Given the description of an element on the screen output the (x, y) to click on. 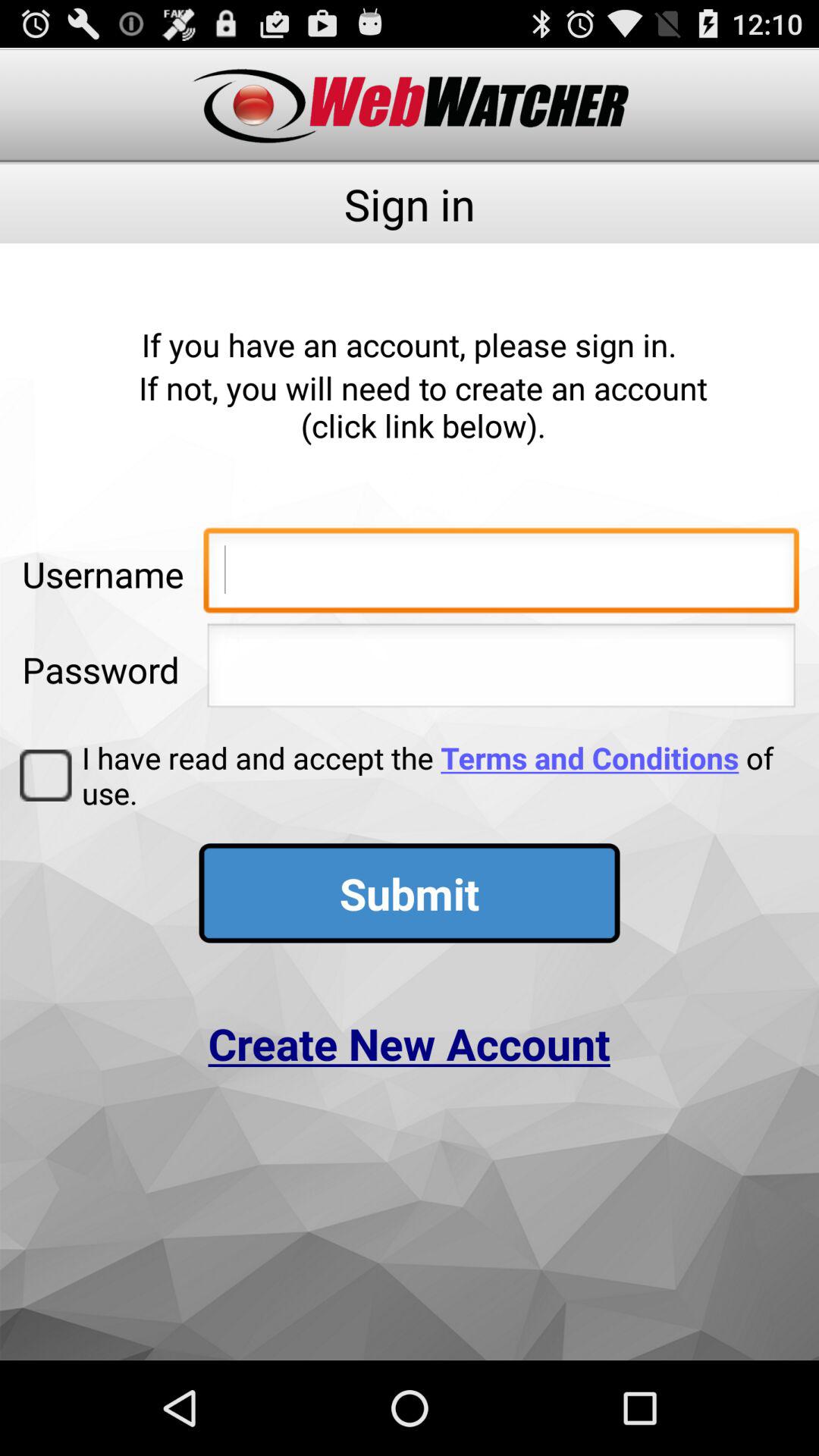
select item above the submit item (435, 775)
